Given the description of an element on the screen output the (x, y) to click on. 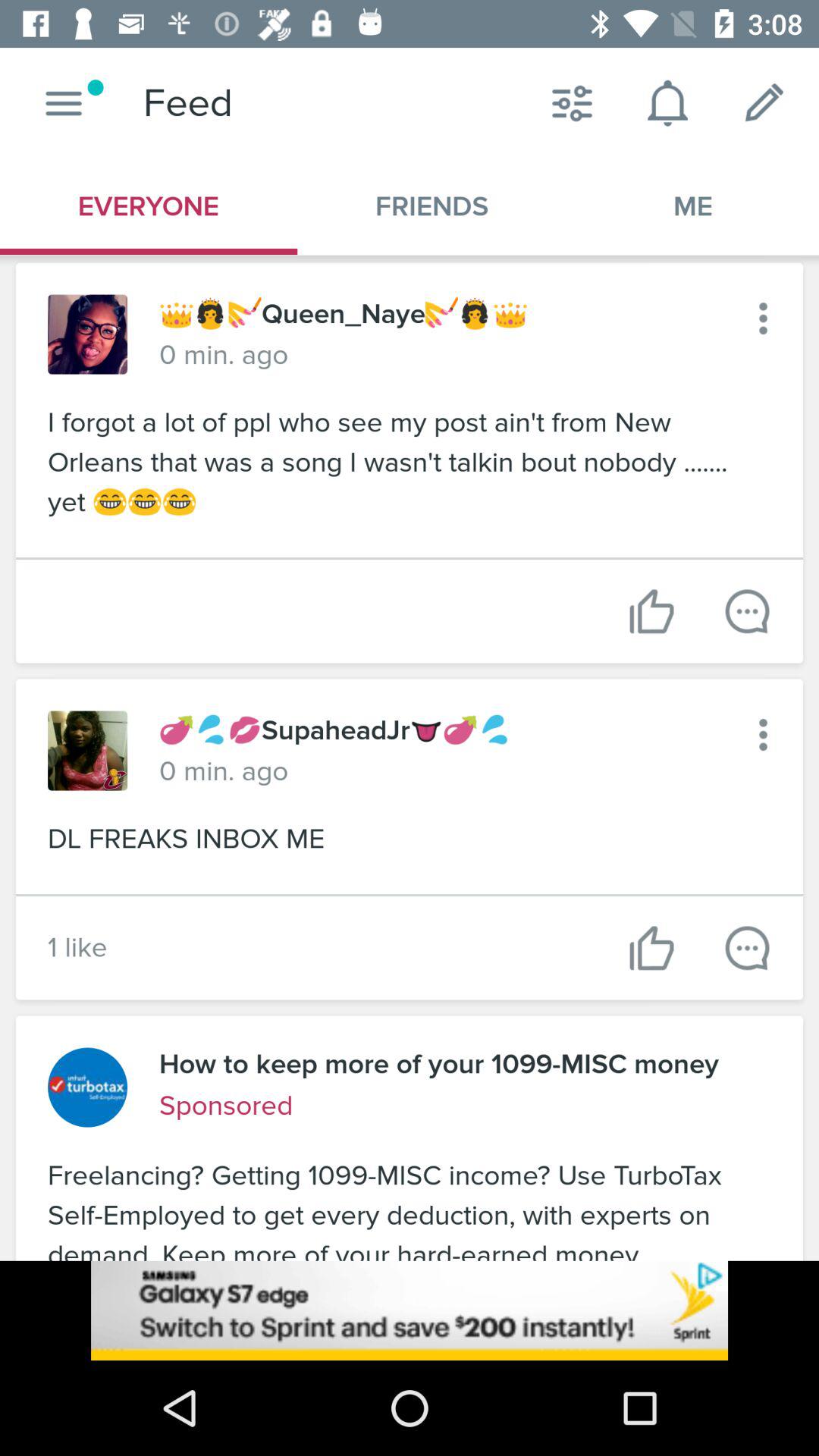
go to chat (747, 611)
